Given the description of an element on the screen output the (x, y) to click on. 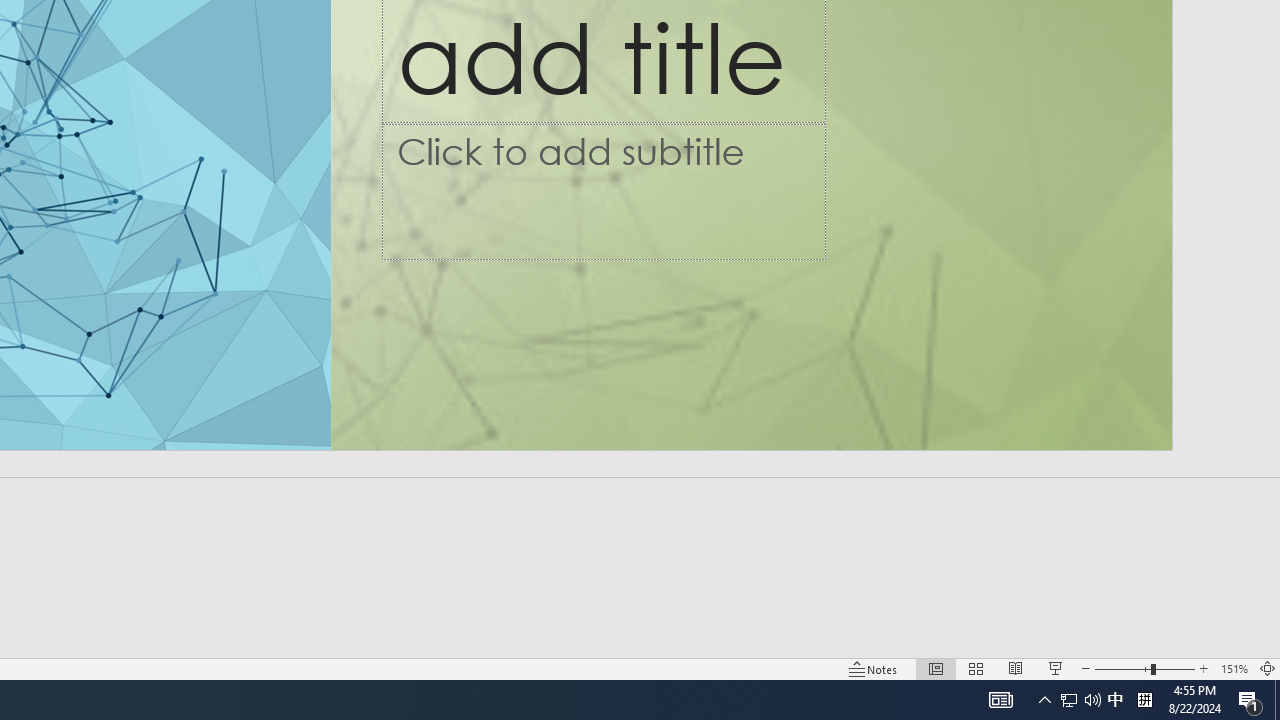
Zoom 151% (1234, 668)
